Given the description of an element on the screen output the (x, y) to click on. 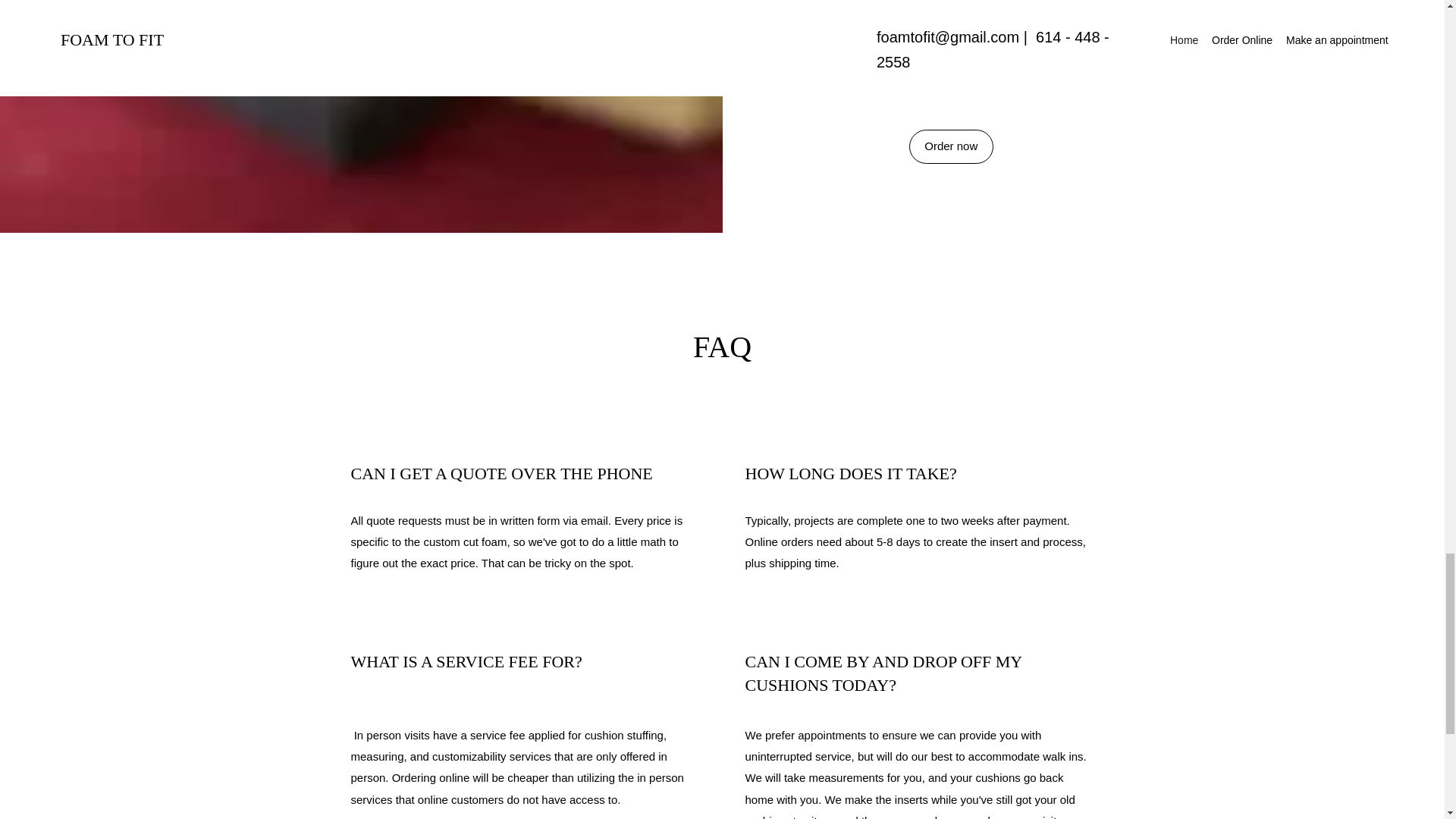
Order now (950, 146)
